Given the description of an element on the screen output the (x, y) to click on. 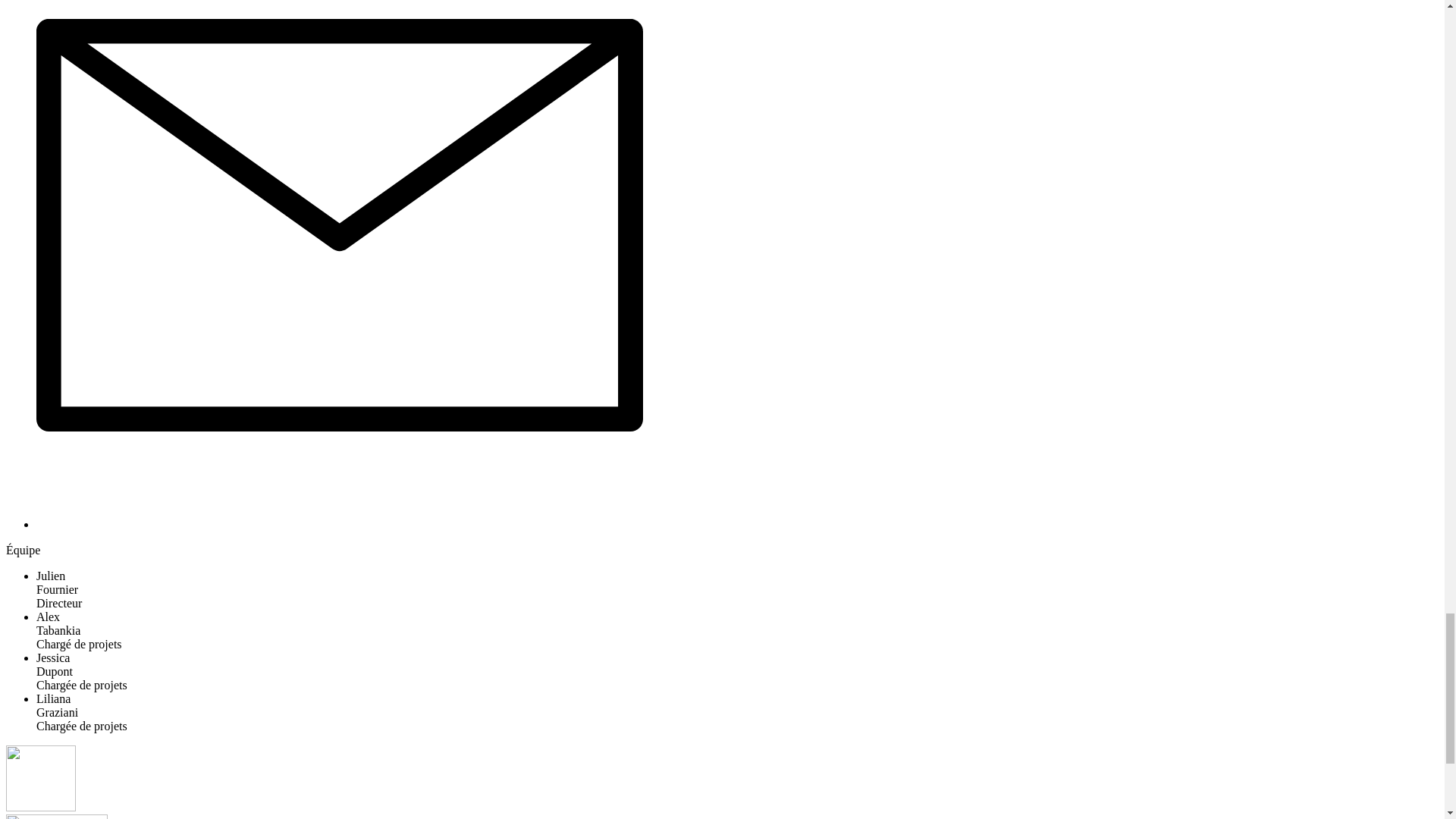
Newsletters WBM (339, 523)
